Given the description of an element on the screen output the (x, y) to click on. 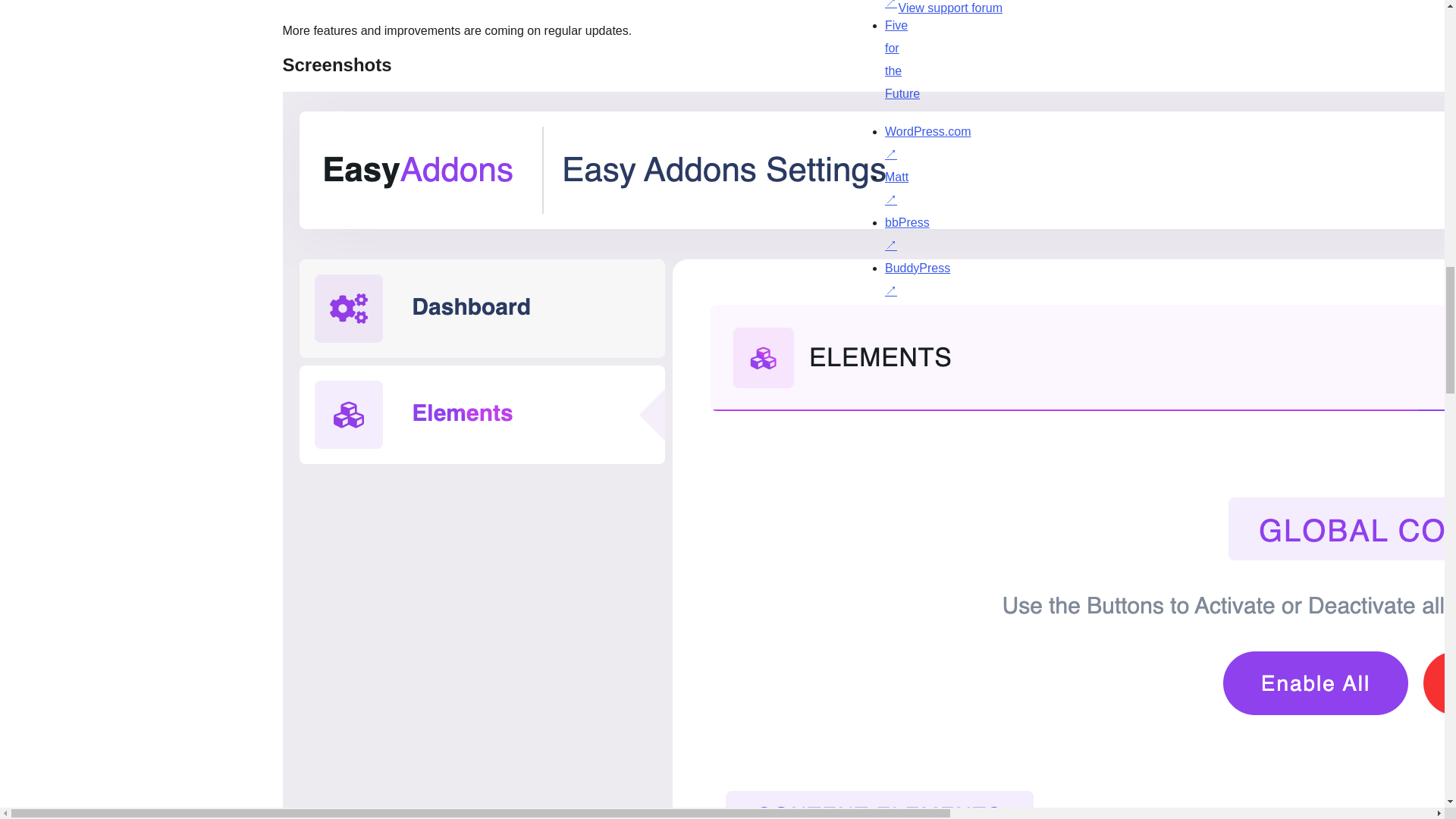
WordPress.org (864, 322)
WordPress.org (1014, 322)
